Given the description of an element on the screen output the (x, y) to click on. 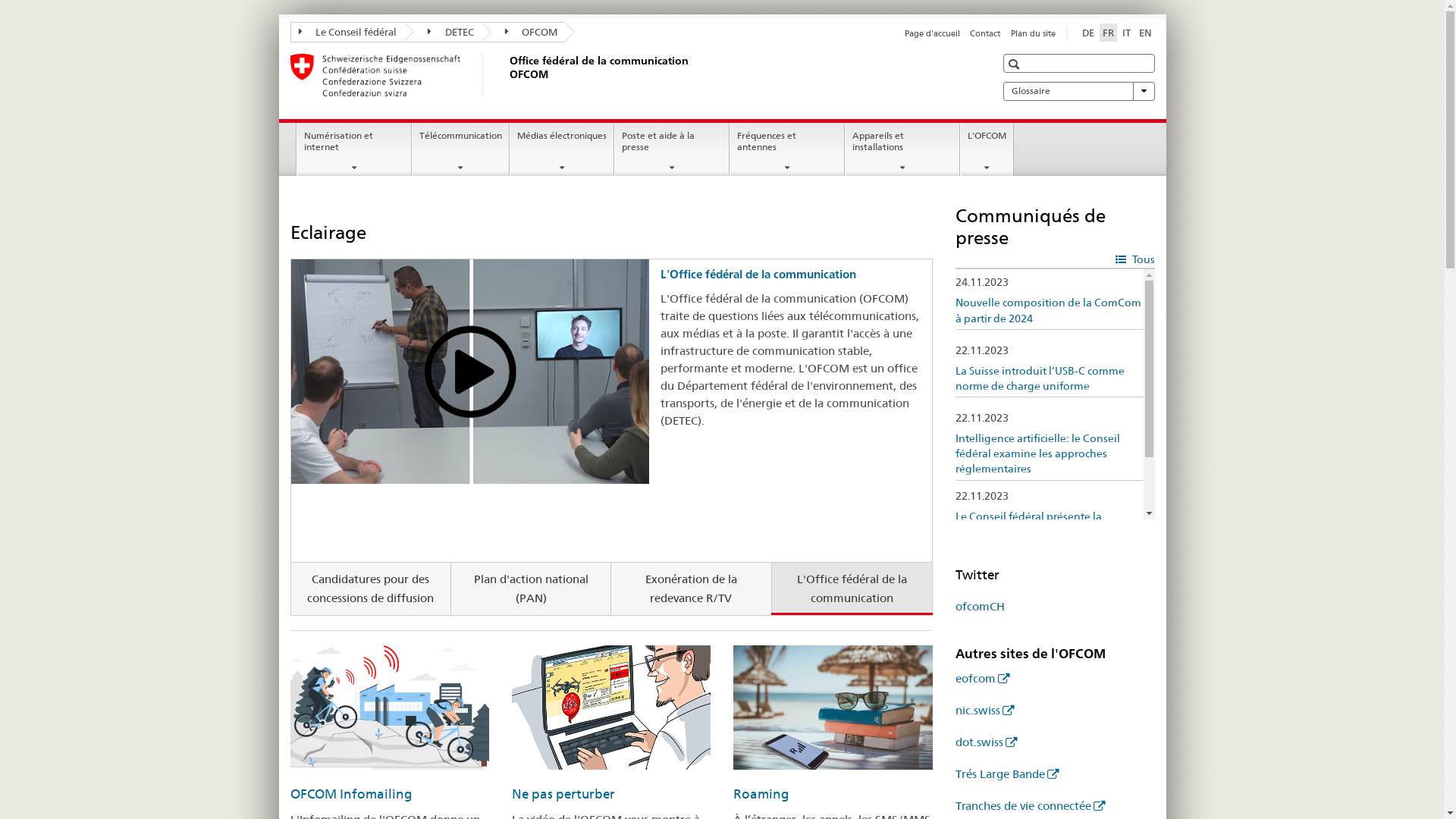
Ne pas perturber Element type: text (563, 793)
Page d'accueil Element type: text (932, 33)
L'OFCOM Element type: text (986, 148)
DE Element type: text (1087, 32)
OFCOM Infomailing Element type: text (350, 793)
IT Element type: text (1126, 32)
nic.swiss Element type: text (984, 709)
DETEC Element type: text (442, 31)
Appareils et installations Element type: text (902, 148)
Plan du site Element type: text (1032, 33)
Tous Element type: text (1134, 257)
Candidatures pour des concessions de diffusion Element type: text (371, 588)
eofcom Element type: text (982, 678)
Roaming Element type: text (760, 793)
FR Element type: text (1108, 32)
Glossaire Element type: text (1078, 90)
ofcomCH Element type: text (979, 606)
dot.swiss Element type: text (985, 741)
OFCOM Element type: text (522, 31)
EN Element type: text (1144, 32)
Contact Element type: text (984, 33)
Plan d'action national (PAN) Element type: text (531, 588)
